Given the description of an element on the screen output the (x, y) to click on. 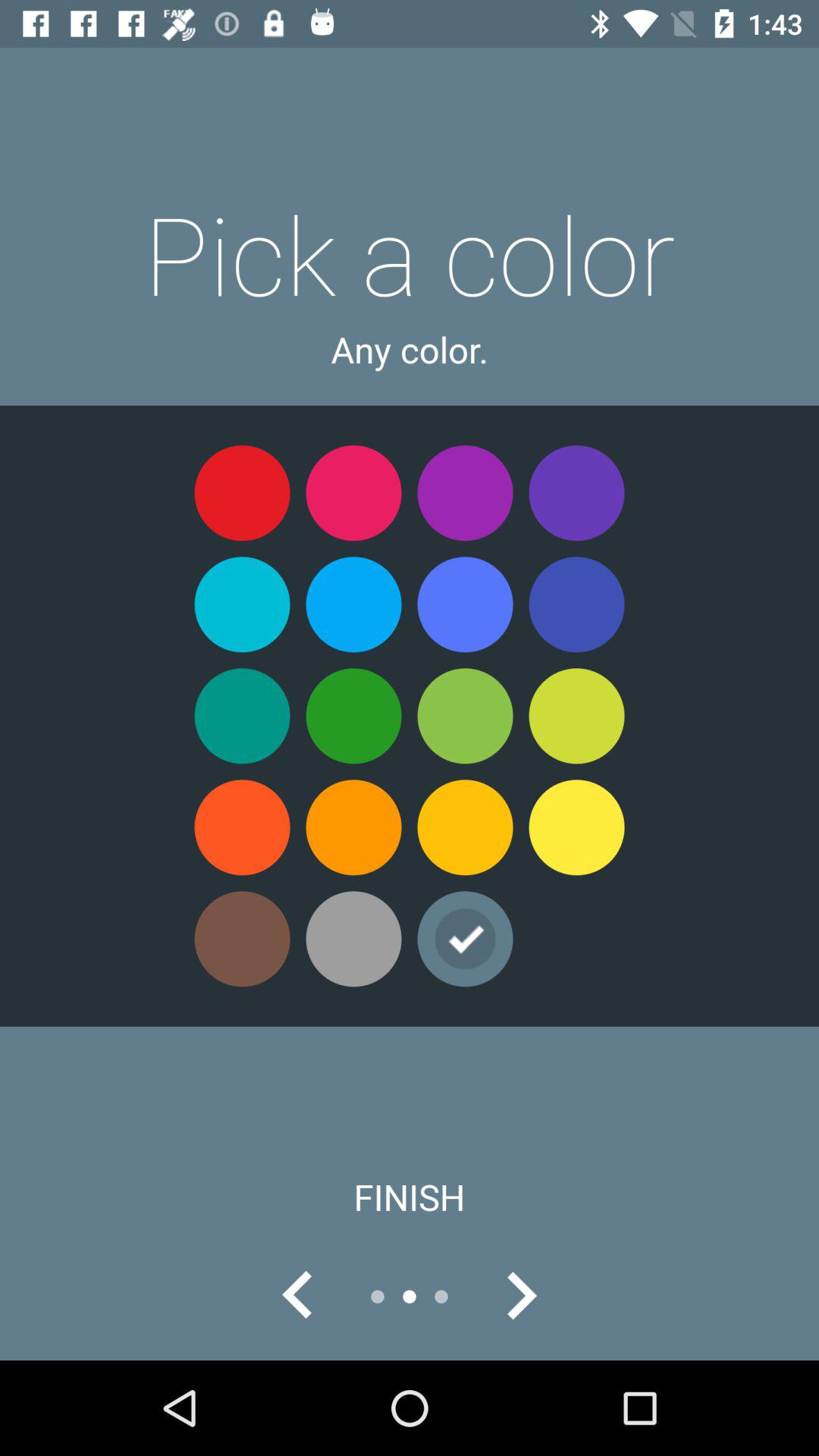
go next (520, 1296)
